Given the description of an element on the screen output the (x, y) to click on. 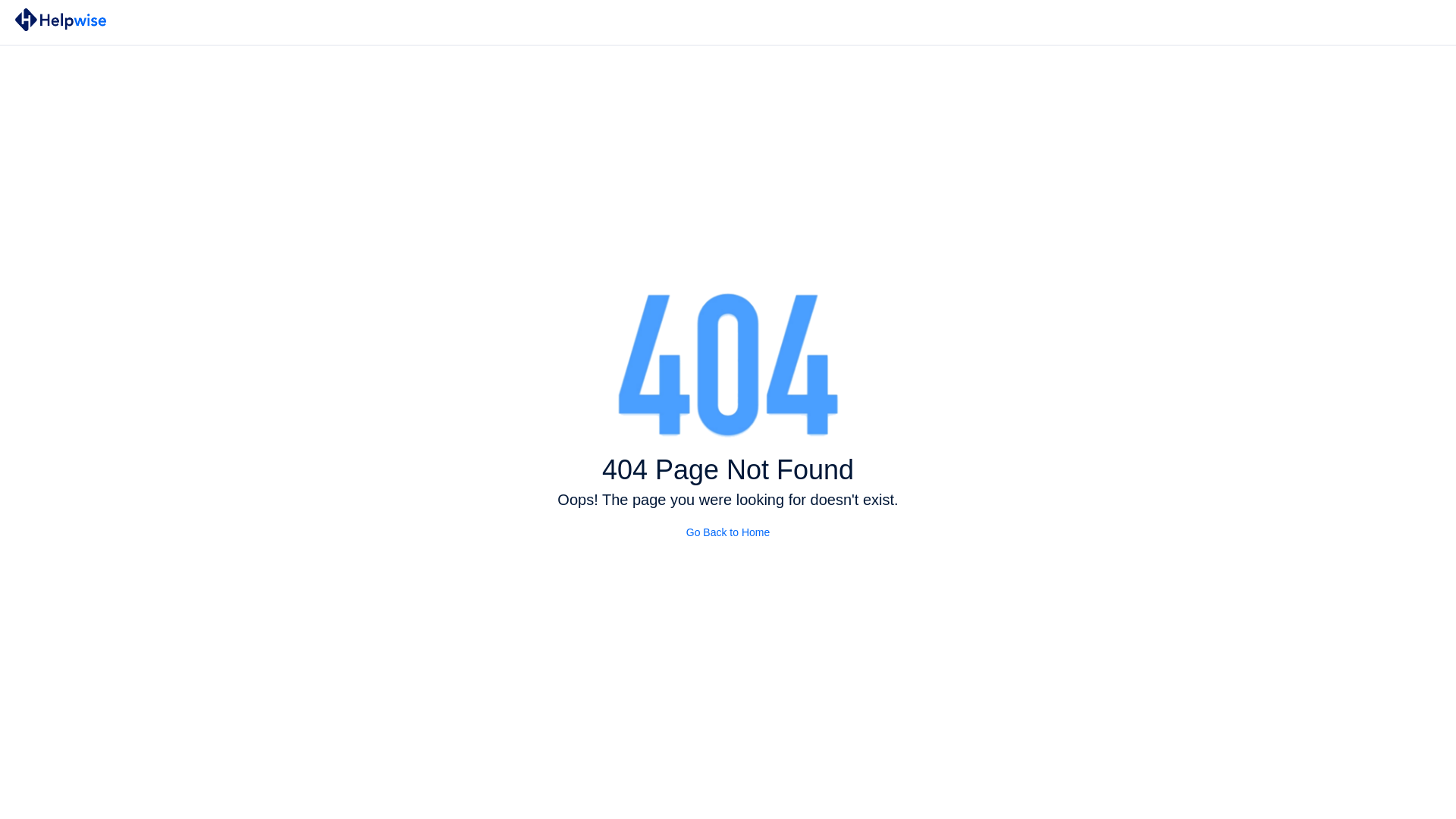
Go Back to Home Element type: text (728, 532)
